Given the description of an element on the screen output the (x, y) to click on. 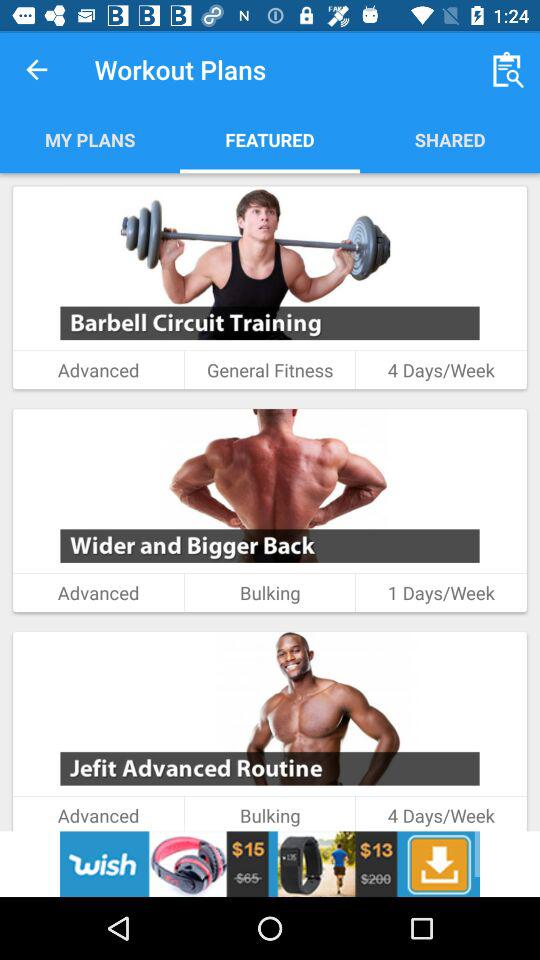
opens a advertisement (270, 864)
